Given the description of an element on the screen output the (x, y) to click on. 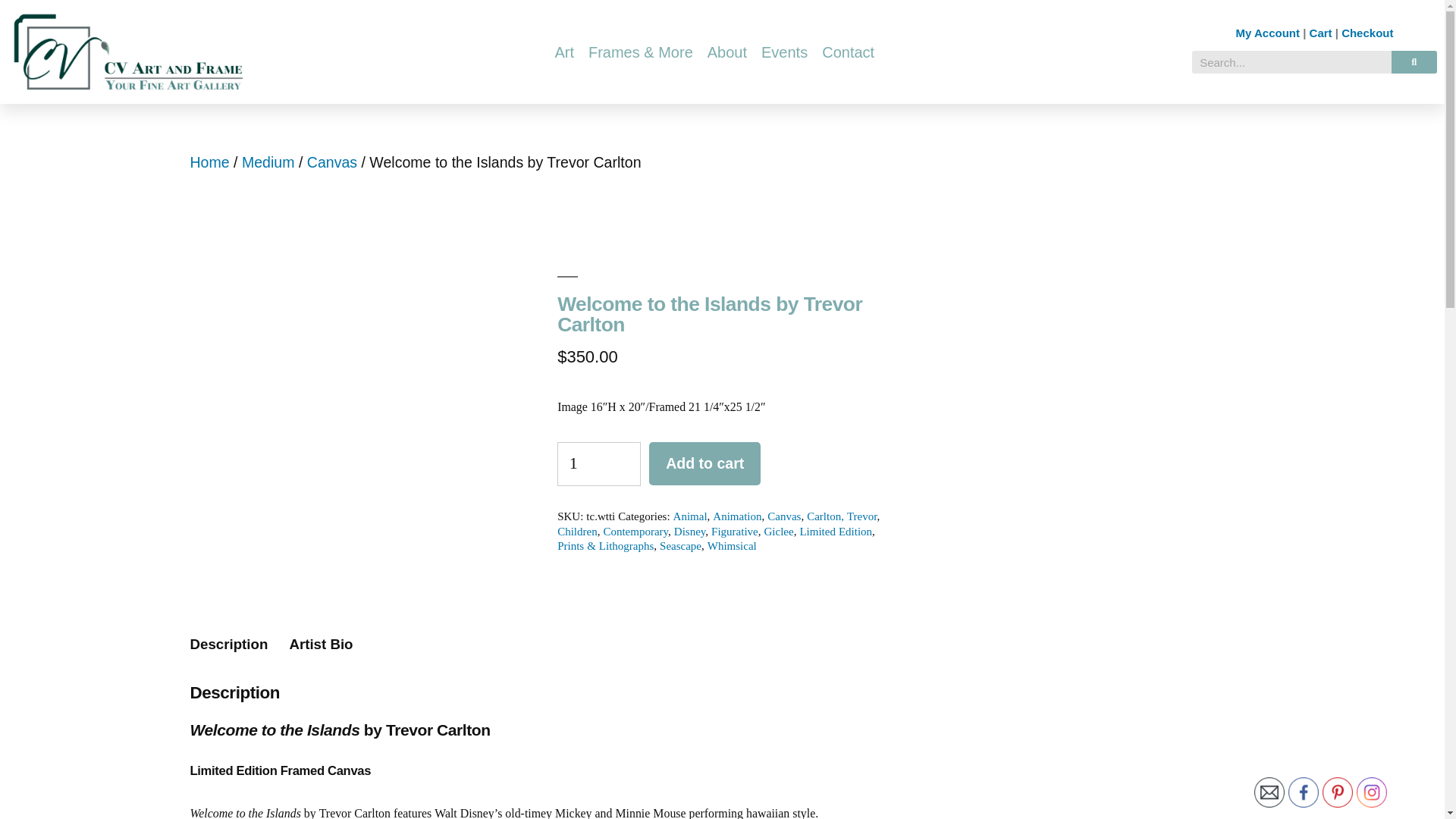
Events (784, 51)
Follow by Email (1268, 792)
Facebook (1303, 792)
Contact (848, 51)
1 (598, 463)
